Given the description of an element on the screen output the (x, y) to click on. 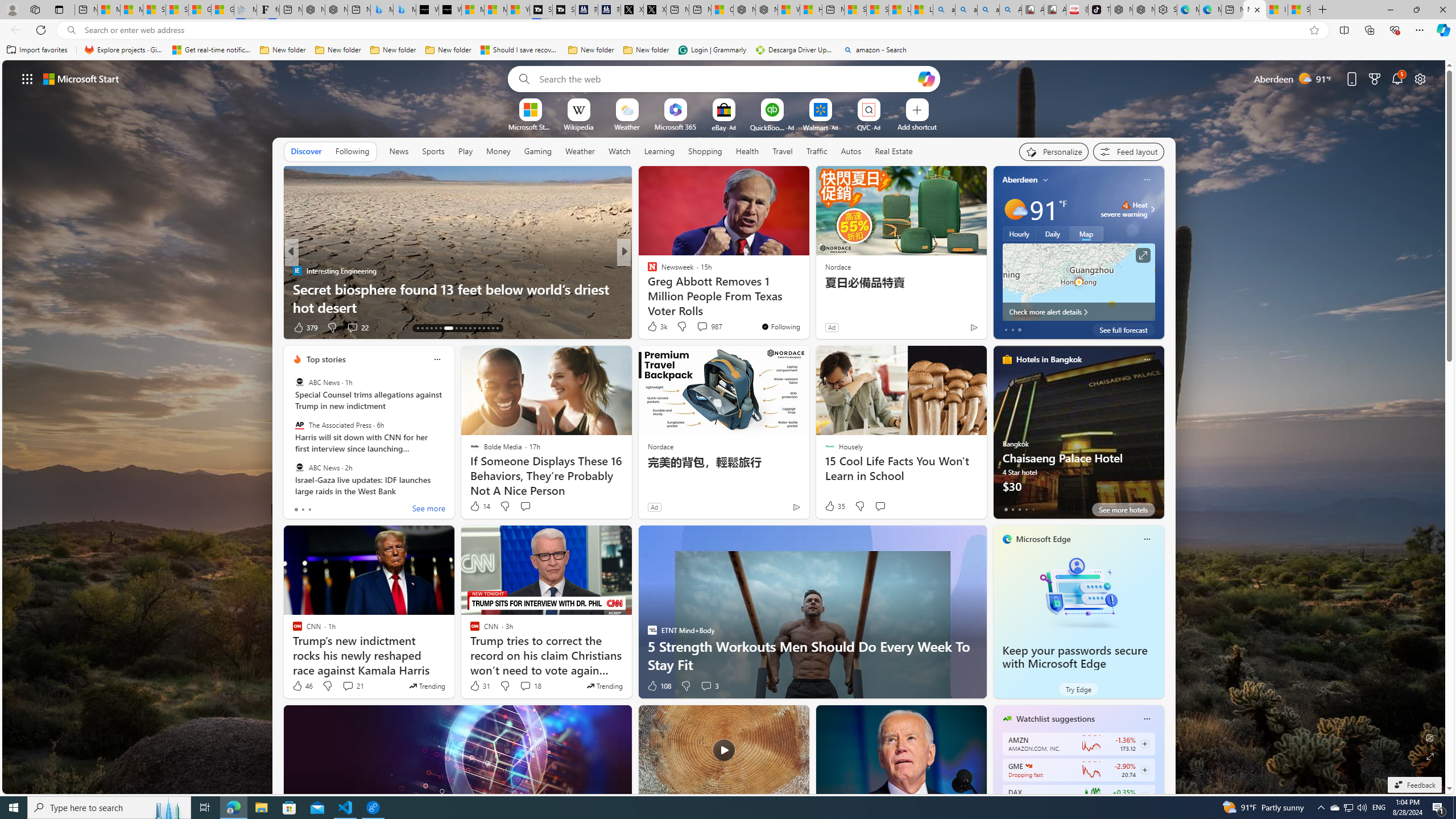
AutomationID: tab-23 (470, 328)
AutomationID: tab-18 (440, 328)
Class: control (27, 78)
AutomationID: tab-24 (474, 328)
Edit Background (1430, 737)
Microsoft Bing Travel - Stays in Bangkok, Bangkok, Thailand (381, 9)
GAMESTOP CORP. (1028, 765)
Watchlist suggestions (1055, 718)
Class: follow-button  m (1144, 795)
